Given the description of an element on the screen output the (x, y) to click on. 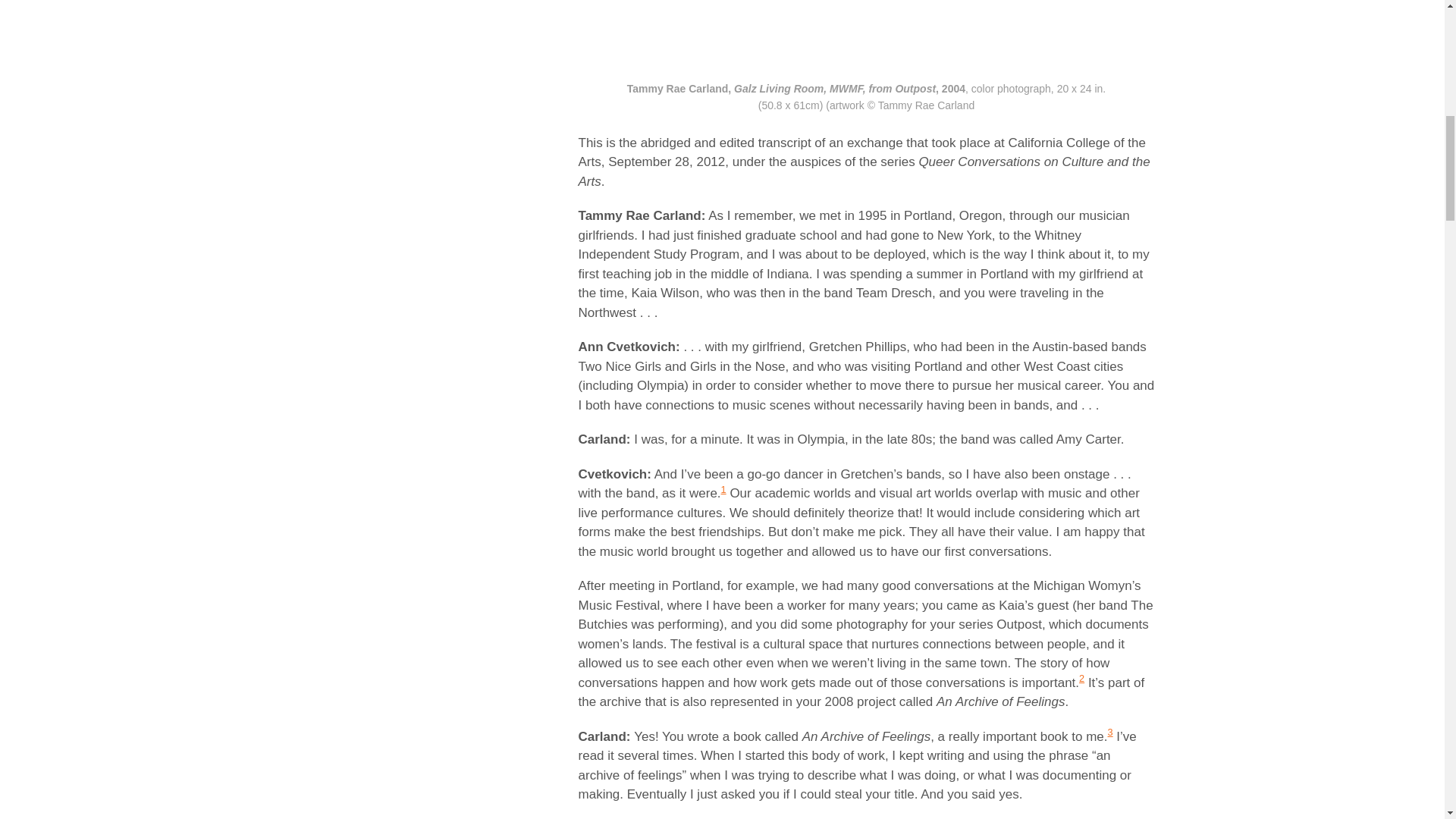
2 (1081, 677)
3 (1110, 731)
1 (723, 489)
